Given the description of an element on the screen output the (x, y) to click on. 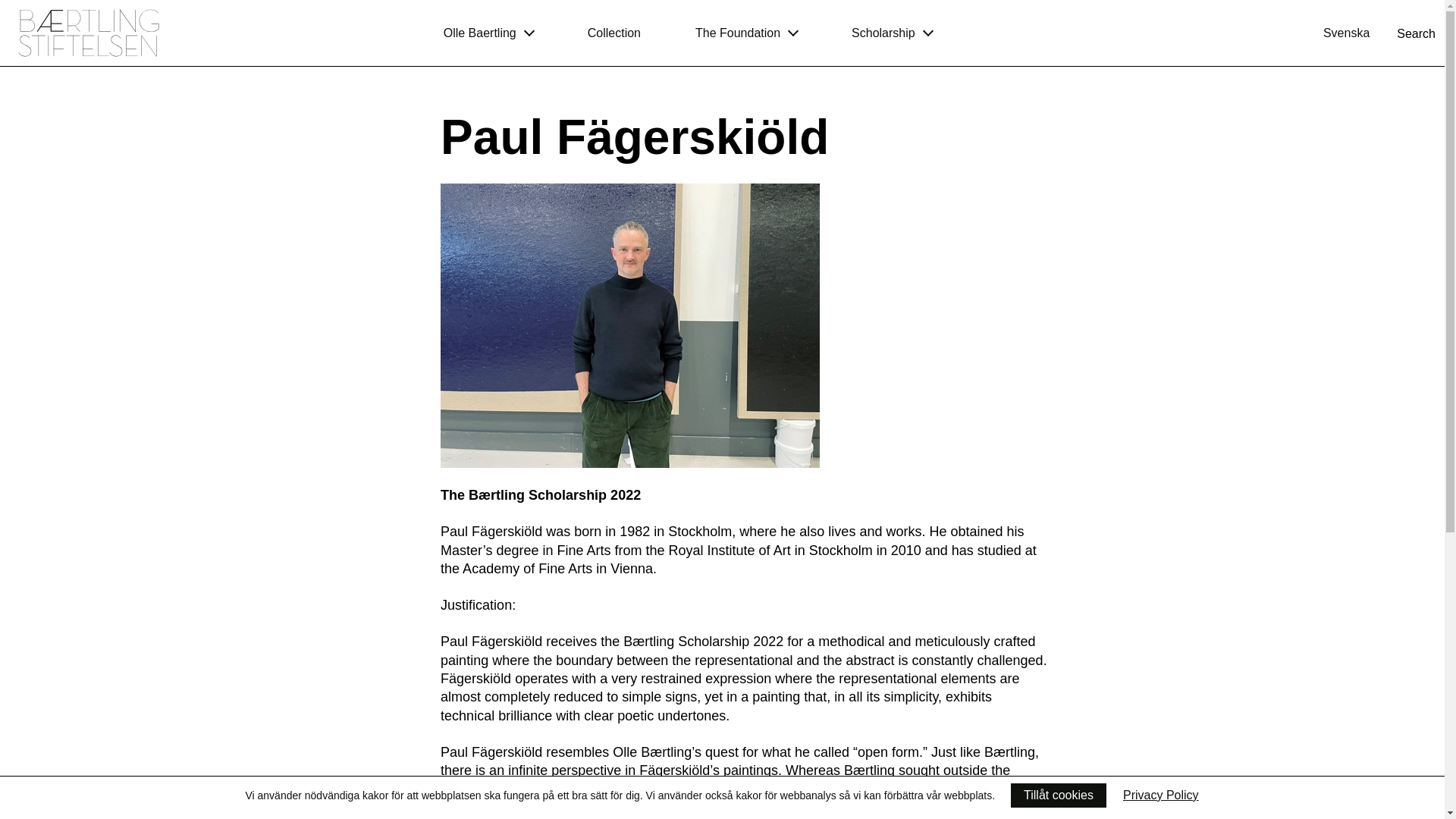
Olle Baertling (488, 33)
Scholarship (891, 33)
Search (1415, 33)
The Foundation (746, 33)
Svenska (1346, 32)
Collection (614, 33)
